Given the description of an element on the screen output the (x, y) to click on. 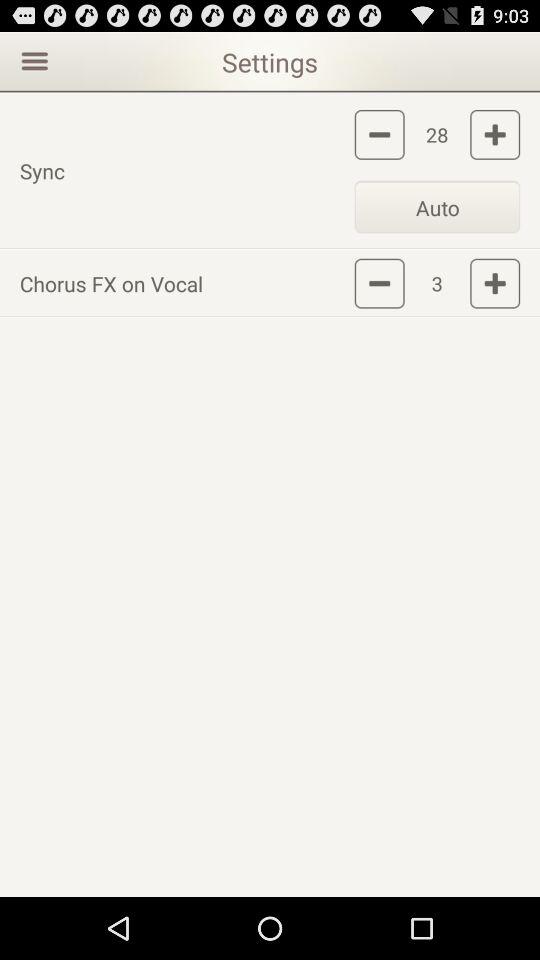
add value (495, 134)
